Given the description of an element on the screen output the (x, y) to click on. 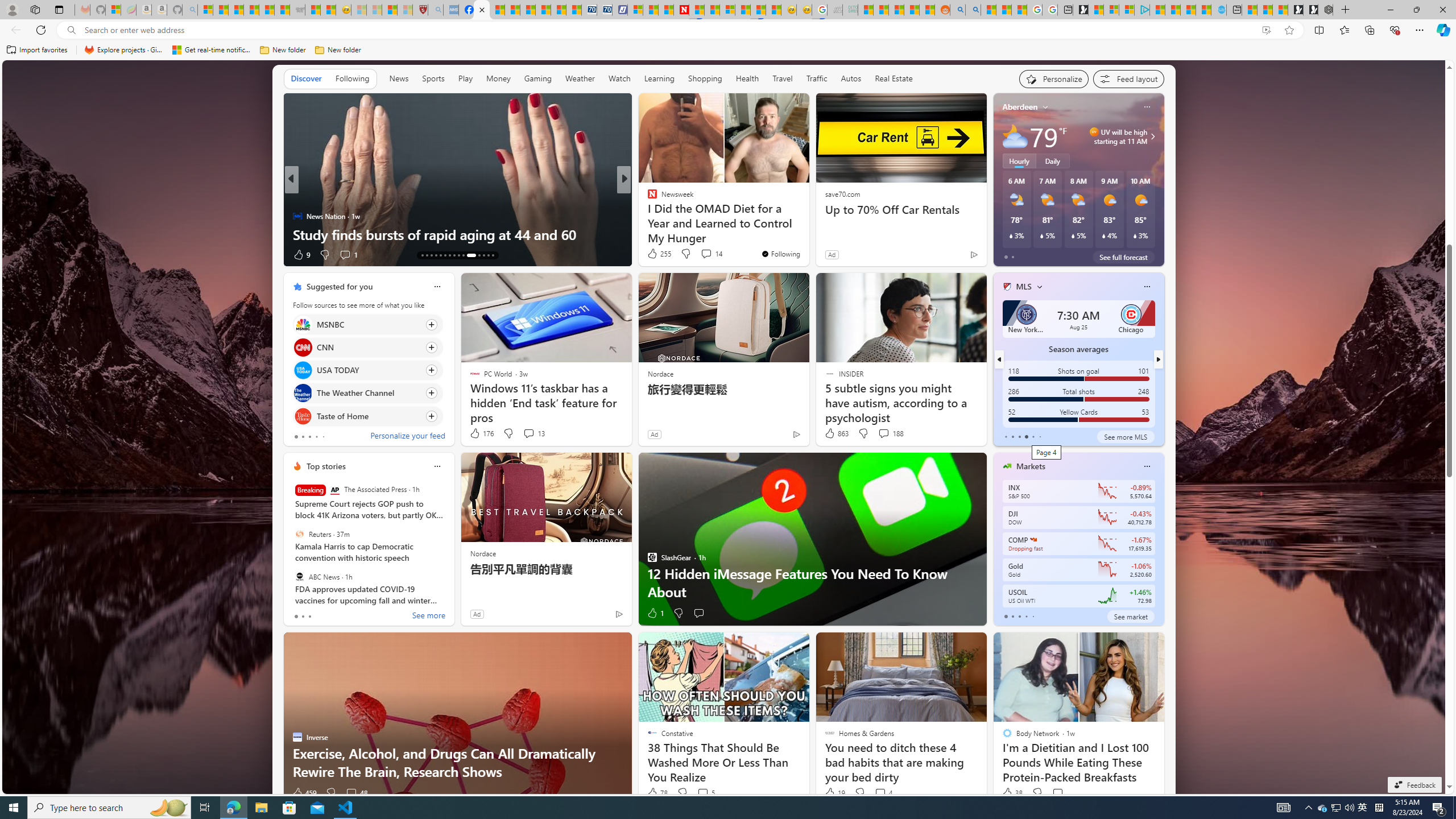
38 Like (1010, 792)
Favorites bar (728, 49)
Class: weather-current-precipitation-glyph (1134, 235)
tab-0 (1005, 616)
Daily (1052, 160)
